Given the description of an element on the screen output the (x, y) to click on. 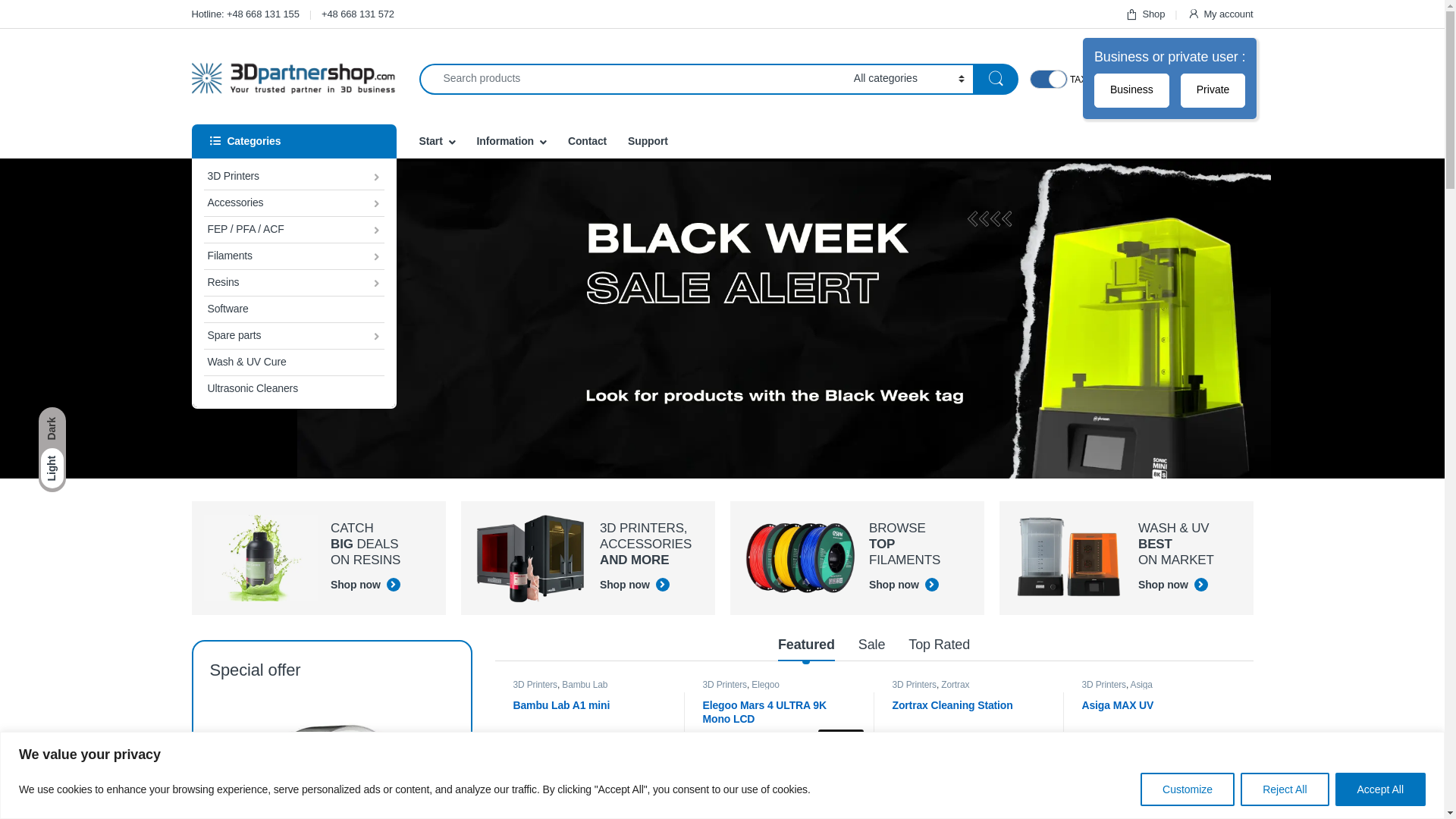
Contact Element type: text (586, 141)
3D Printers Element type: text (1103, 684)
Hotline: +48 668 131 155 Element type: text (244, 14)
FEP / PFA / ACF Element type: text (293, 229)
3D Printers Element type: text (724, 684)
Zortrax Element type: text (955, 684)
Support Element type: text (647, 141)
Light Element type: text (51, 468)
Sale Element type: text (871, 646)
CATCH
BIG DEALS
ON RESINS
Shop now Element type: text (318, 557)
Featured Element type: text (806, 646)
Accessories Element type: text (293, 203)
Top Rated Element type: text (938, 646)
Ultrasonic Cleaners Element type: text (293, 388)
Dark Element type: text (51, 428)
3D Printers Element type: text (534, 684)
3D Printers Element type: text (293, 176)
Start Element type: text (436, 141)
Software Element type: text (293, 309)
WASH & UV
BEST
ON MARKET
Shop now Element type: text (1126, 557)
Spare parts Element type: text (293, 336)
Categories Element type: text (293, 141)
My account Element type: text (1220, 14)
Elegoo Element type: text (764, 684)
Information Element type: text (511, 141)
Private Element type: text (1212, 90)
Asiga Element type: text (1141, 684)
Filaments Element type: text (293, 256)
Shop Element type: text (1145, 14)
3D Printers Element type: text (913, 684)
Resins Element type: text (293, 282)
3D PRINTERS,
ACCESSORIES
AND MORE
Shop now Element type: text (587, 557)
TAX Element type: text (1048, 78)
Bambu Lab Element type: text (584, 684)
Reject All Element type: text (1284, 788)
+48 668 131 572 Element type: text (357, 14)
Customize Element type: text (1187, 788)
Accept All Element type: text (1380, 788)
BROWSE
TOP
FILAMENTS
Shop now Element type: text (856, 557)
Business Element type: text (1131, 90)
Wash & UV Cure Element type: text (293, 362)
